Given the description of an element on the screen output the (x, y) to click on. 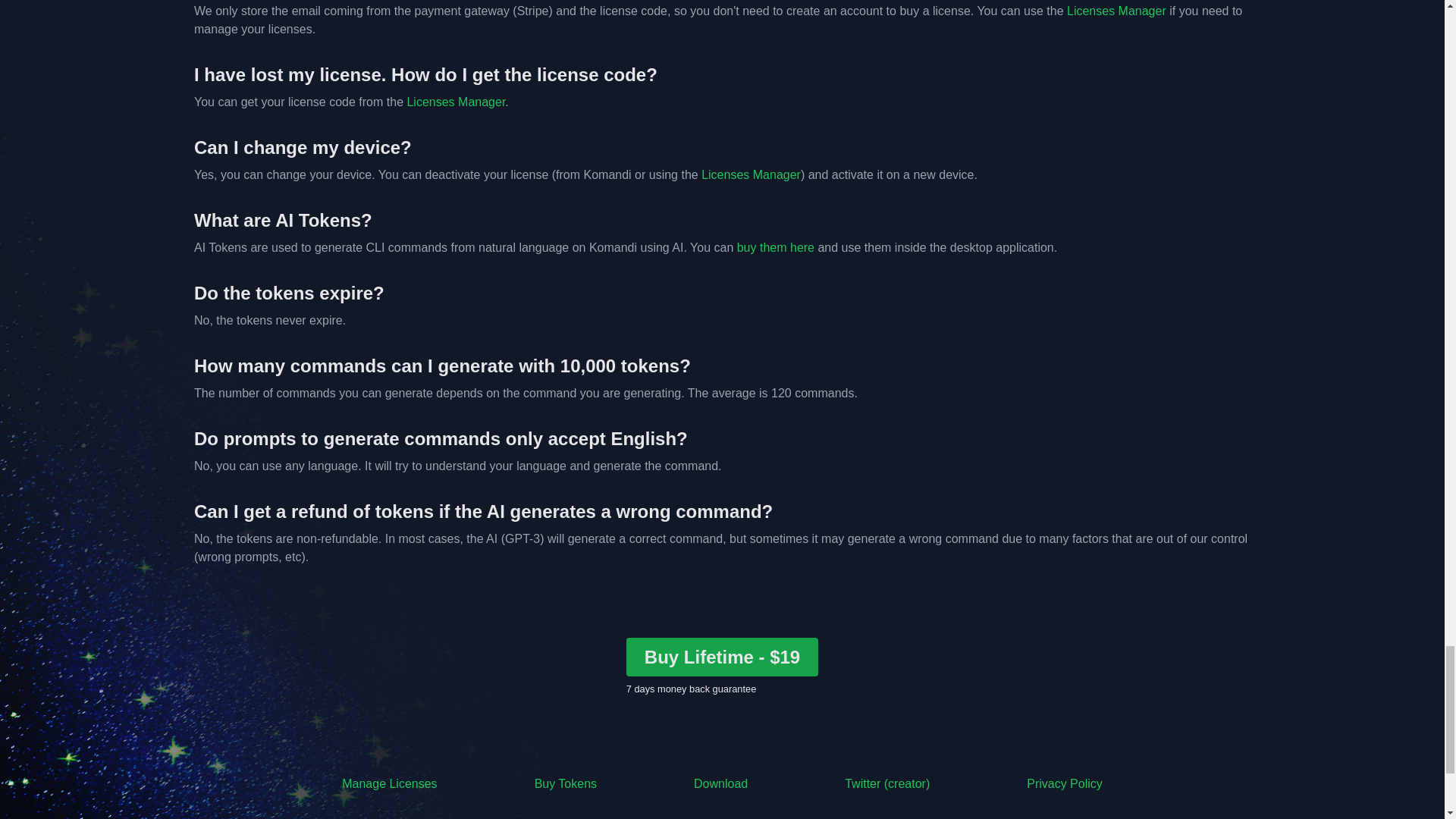
Manage Licenses (389, 783)
Licenses Manager (750, 174)
Buy Tokens (565, 783)
Licenses Manager (455, 101)
Download (721, 783)
Privacy Policy (1064, 783)
buy them here (774, 246)
Licenses Manager (1116, 10)
